Given the description of an element on the screen output the (x, y) to click on. 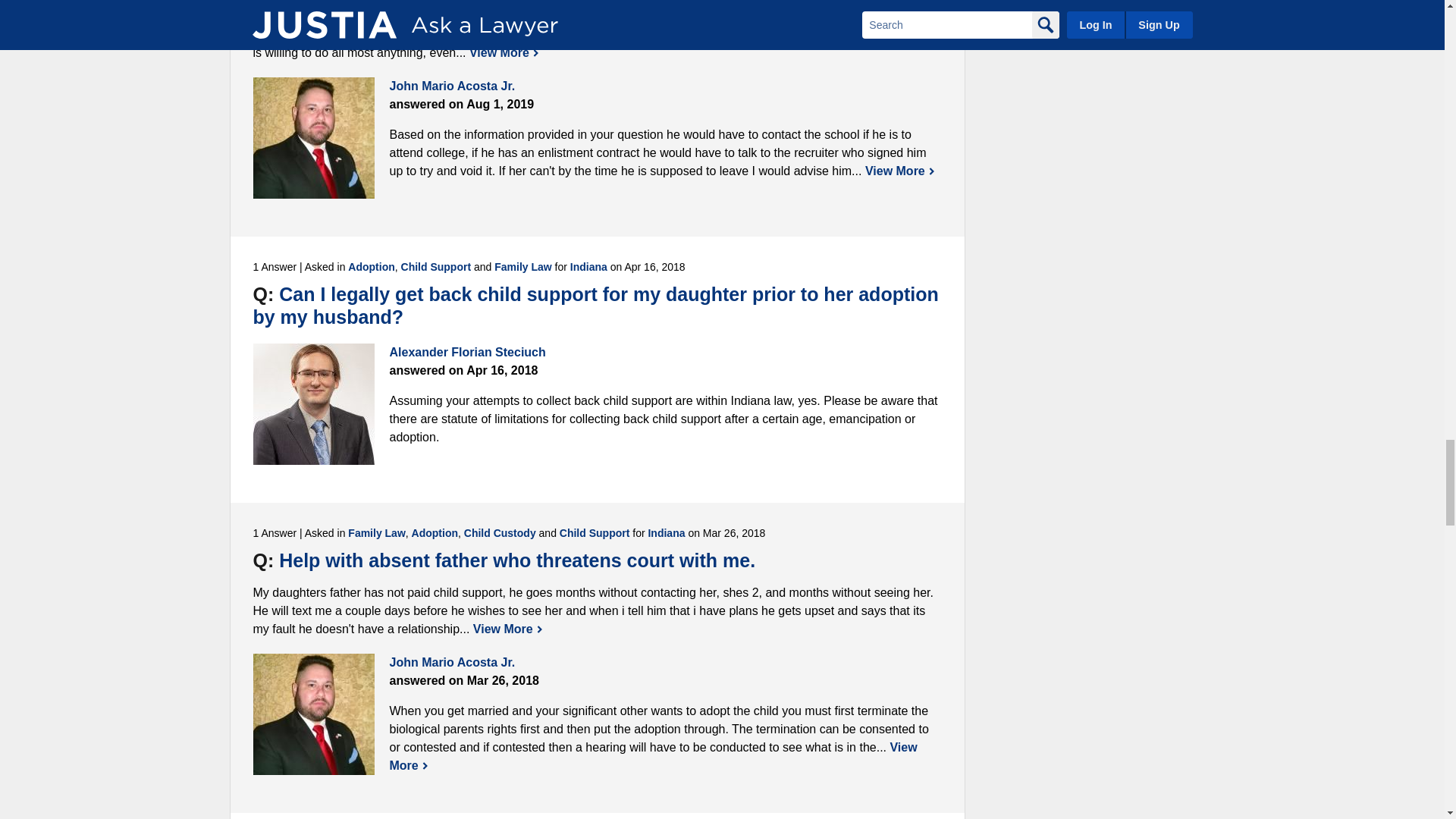
John Mario Acosta Jr. (313, 137)
John Mario Acosta Jr. (313, 713)
Alexander Florian Steciuch (313, 404)
